Given the description of an element on the screen output the (x, y) to click on. 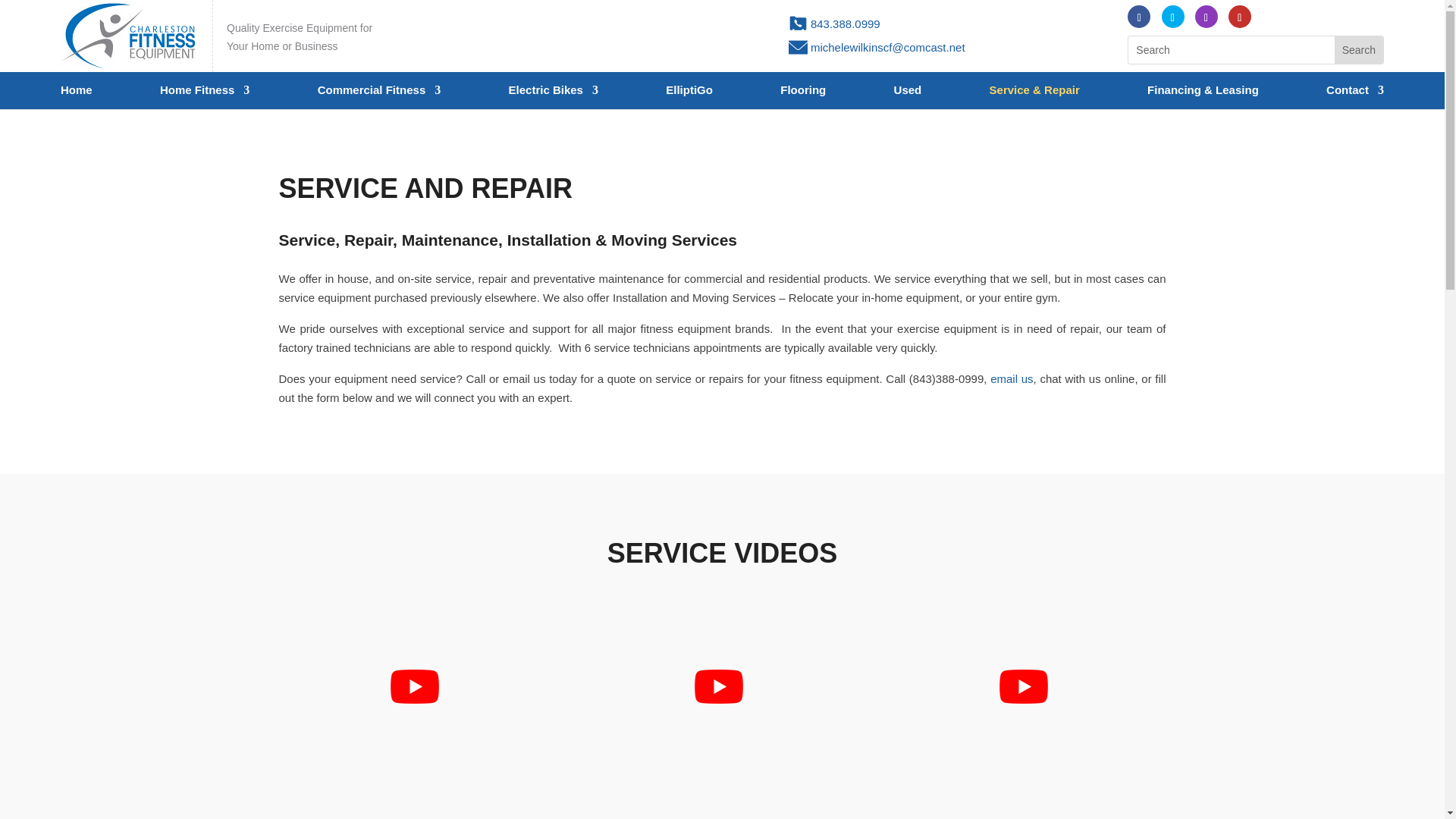
Search (1359, 49)
Search (1359, 49)
Home (77, 96)
Electric Bikes (553, 96)
843.388.0999 (845, 23)
Search (1359, 49)
Home Fitness (204, 96)
Commercial Fitness (379, 96)
